Given the description of an element on the screen output the (x, y) to click on. 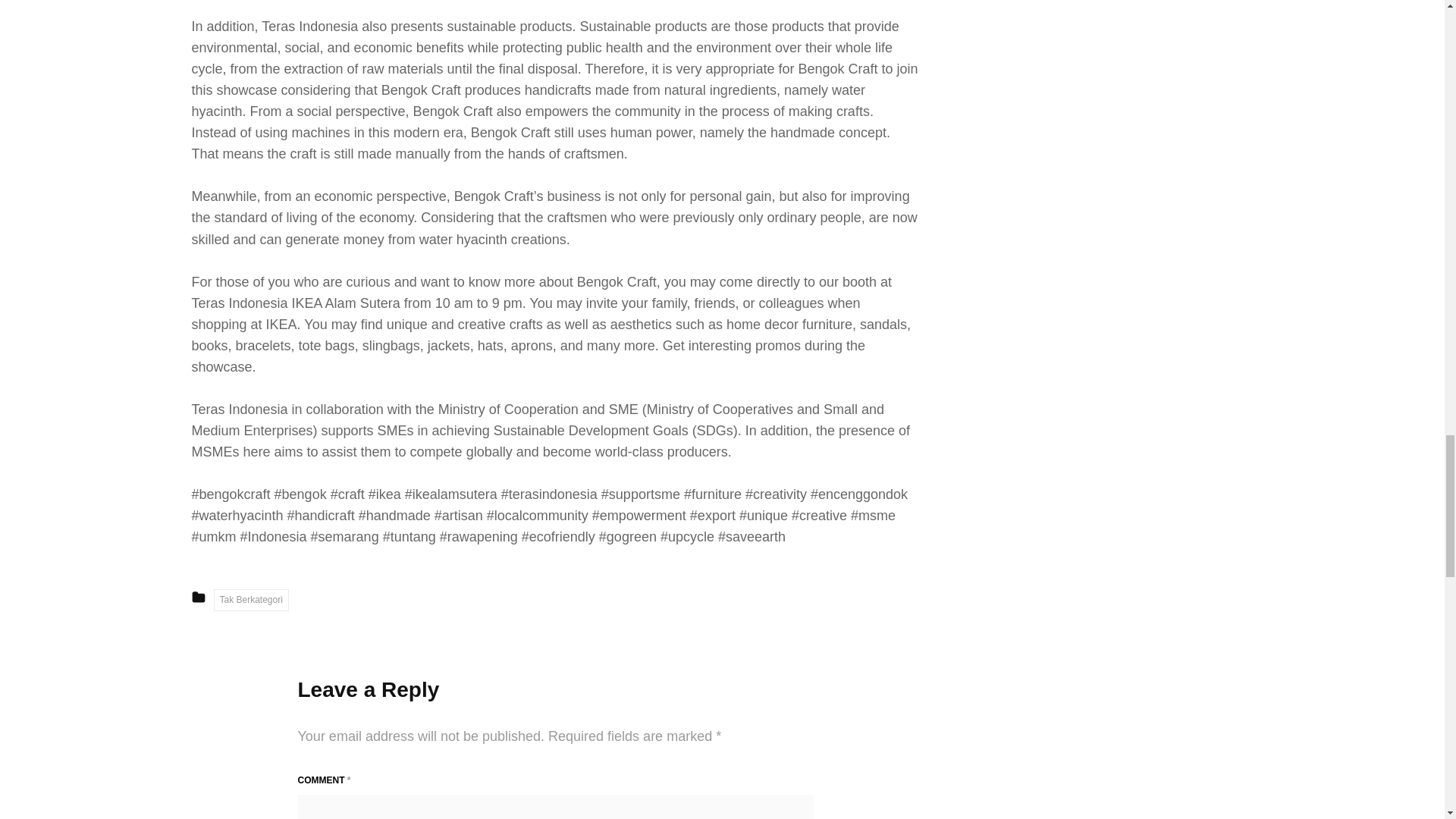
Tak Berkategori (251, 599)
